Given the description of an element on the screen output the (x, y) to click on. 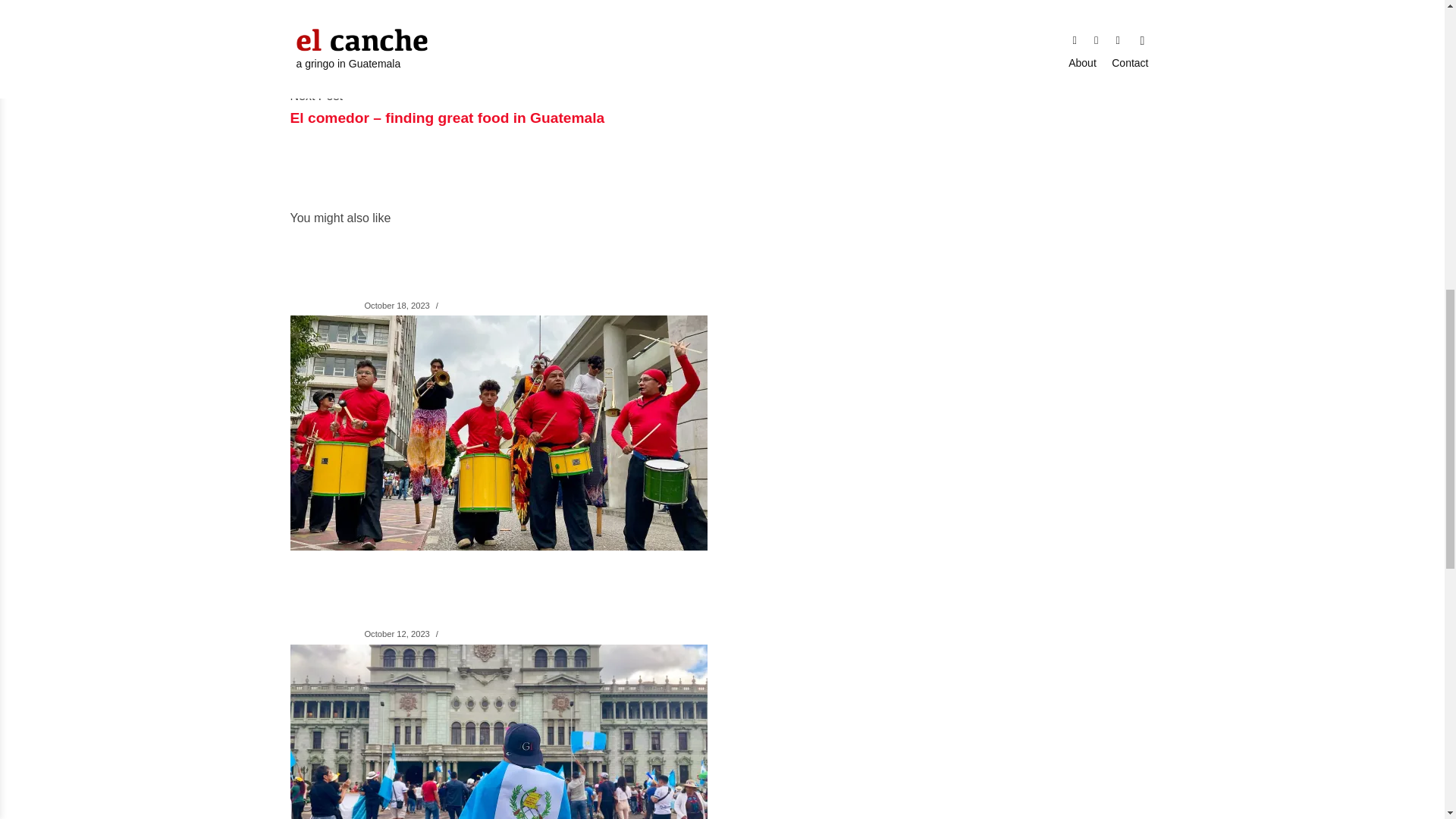
Guatemala (321, 305)
Guatemala (321, 633)
Guatemala: Peaceful Protests Face Violent Reprisals (640, 545)
Guatemala: Peaceful Protests Face Violent Reprisals (517, 260)
